Given the description of an element on the screen output the (x, y) to click on. 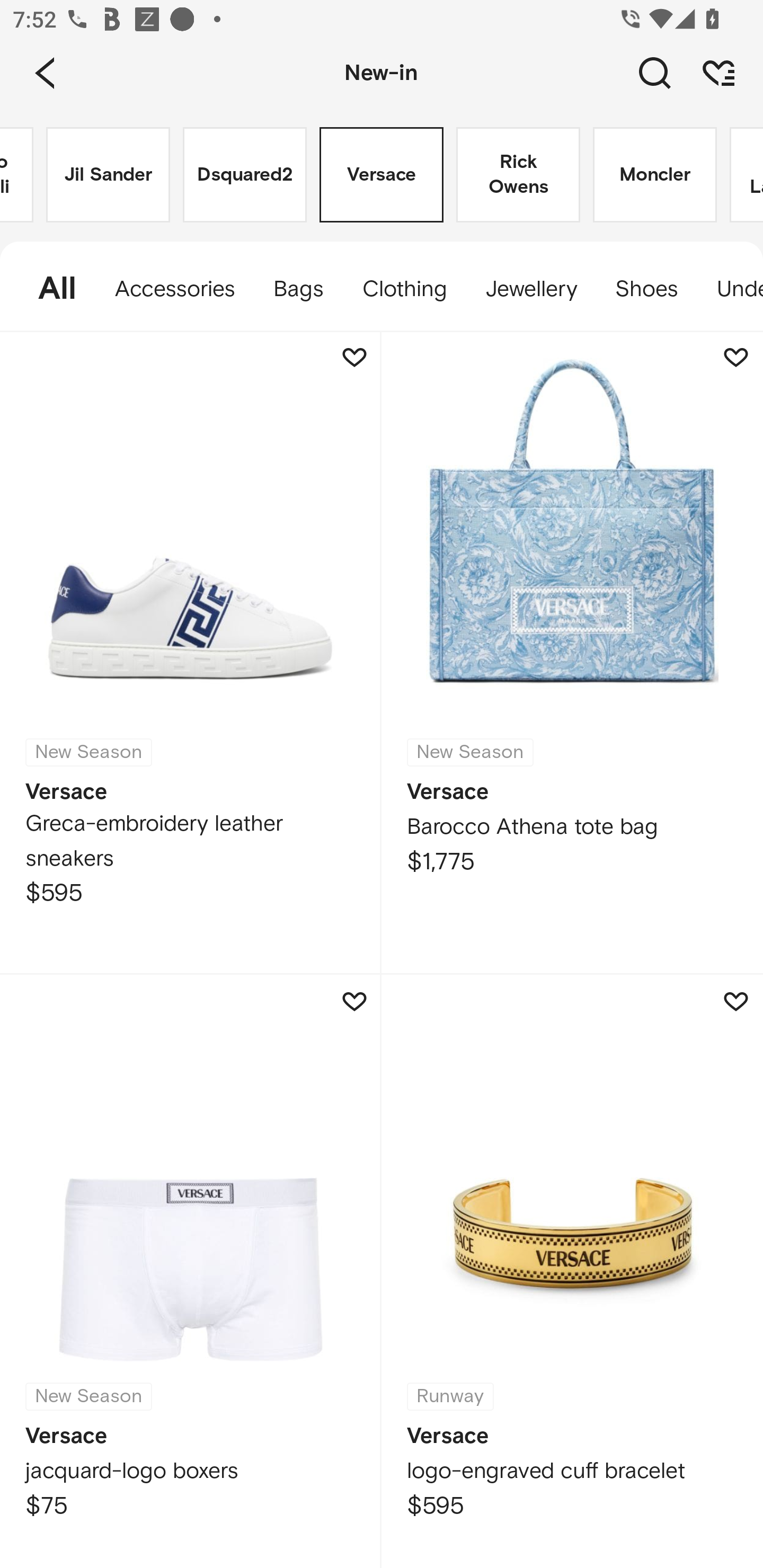
Jil Sander (107, 174)
Dsquared2 (244, 174)
Versace (381, 174)
Rick Owens (517, 174)
Moncler (654, 174)
All (47, 289)
Accessories (174, 289)
Bags (298, 289)
Clothing (403, 289)
Jewellery (530, 289)
Shoes (646, 289)
Underwear & Socks (730, 289)
New Season Versace Barocco Athena tote bag $1,775 (572, 652)
New Season Versace jacquard-logo boxers $75 (190, 1271)
Runway Versace logo-engraved cuff bracelet $595 (572, 1271)
